Given the description of an element on the screen output the (x, y) to click on. 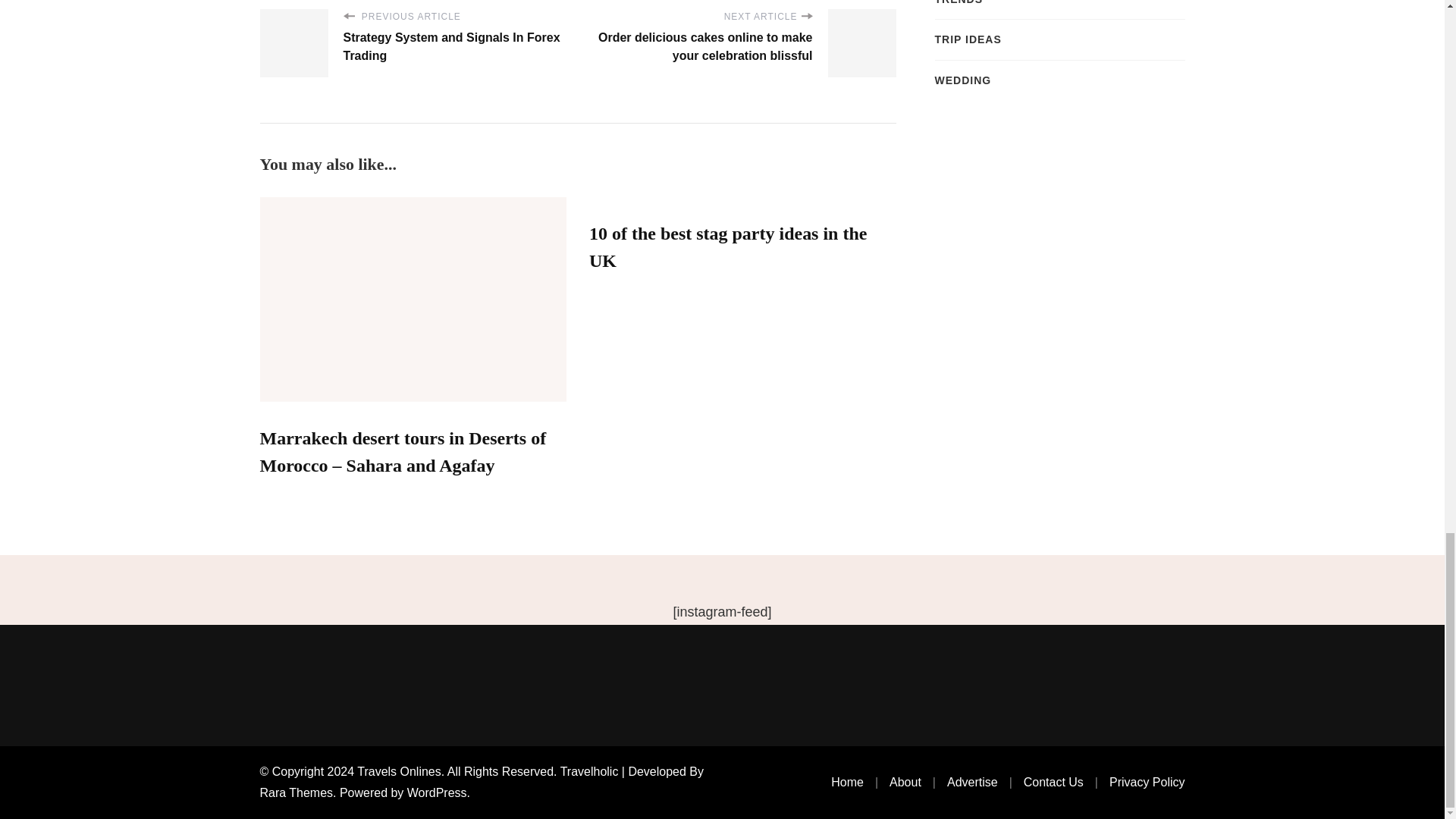
10 of the best stag party ideas in the UK (727, 247)
